Given the description of an element on the screen output the (x, y) to click on. 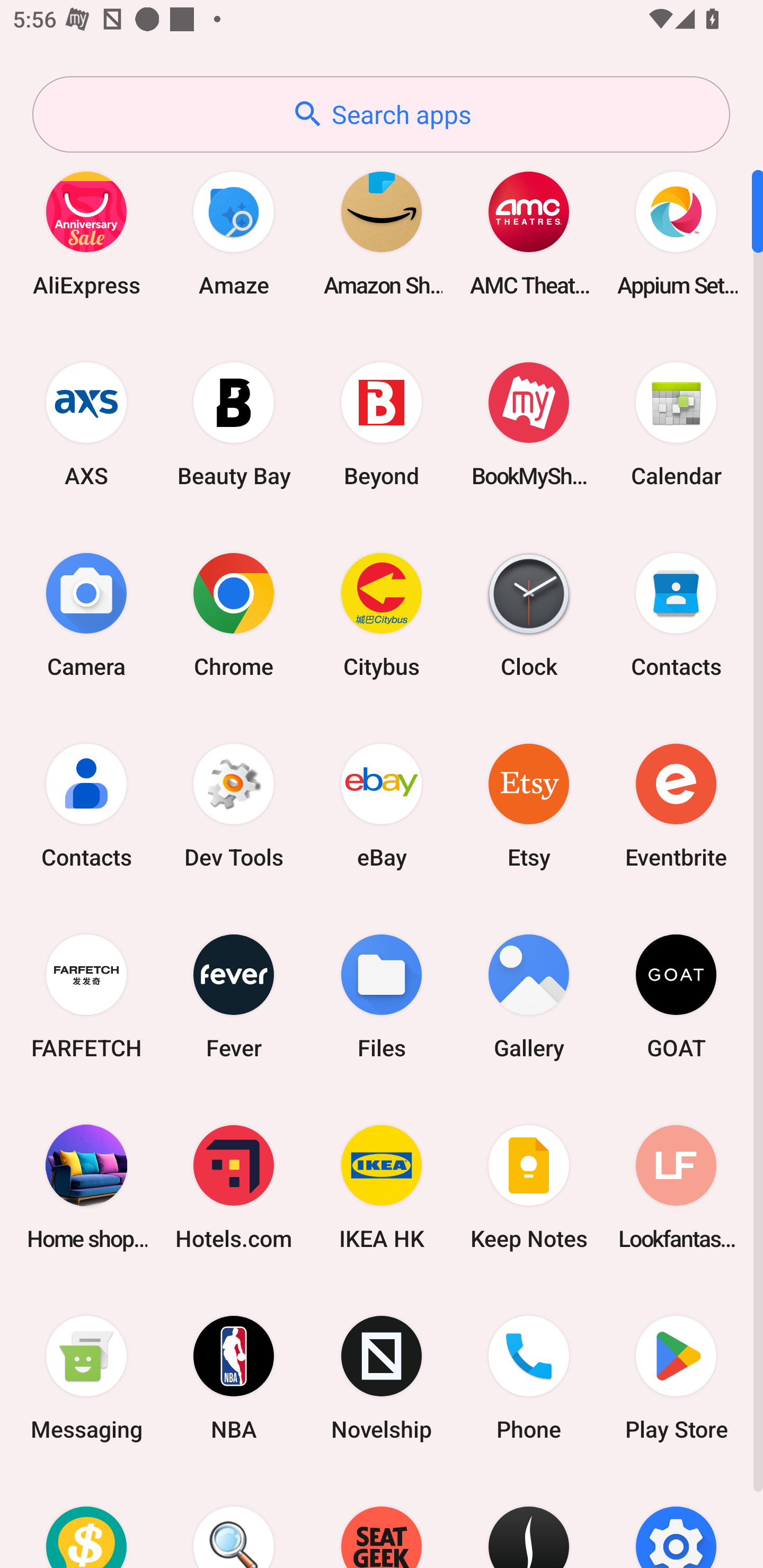
  Search apps (381, 114)
AliExpress (86, 233)
Amaze (233, 233)
Amazon Shopping (381, 233)
AMC Theatres (528, 233)
Appium Settings (676, 233)
AXS (86, 424)
Beauty Bay (233, 424)
Beyond (381, 424)
BookMyShow (528, 424)
Calendar (676, 424)
Camera (86, 614)
Chrome (233, 614)
Citybus (381, 614)
Clock (528, 614)
Contacts (676, 614)
Contacts (86, 805)
Dev Tools (233, 805)
eBay (381, 805)
Etsy (528, 805)
Eventbrite (676, 805)
FARFETCH (86, 996)
Fever (233, 996)
Files (381, 996)
Gallery (528, 996)
GOAT (676, 996)
Home shopping (86, 1186)
Hotels.com (233, 1186)
IKEA HK (381, 1186)
Keep Notes (528, 1186)
Lookfantastic (676, 1186)
Messaging (86, 1377)
NBA (233, 1377)
Novelship (381, 1377)
Phone (528, 1377)
Play Store (676, 1377)
Price (86, 1520)
Search (233, 1520)
SeatGeek (381, 1520)
Sephora (528, 1520)
Settings (676, 1520)
